Given the description of an element on the screen output the (x, y) to click on. 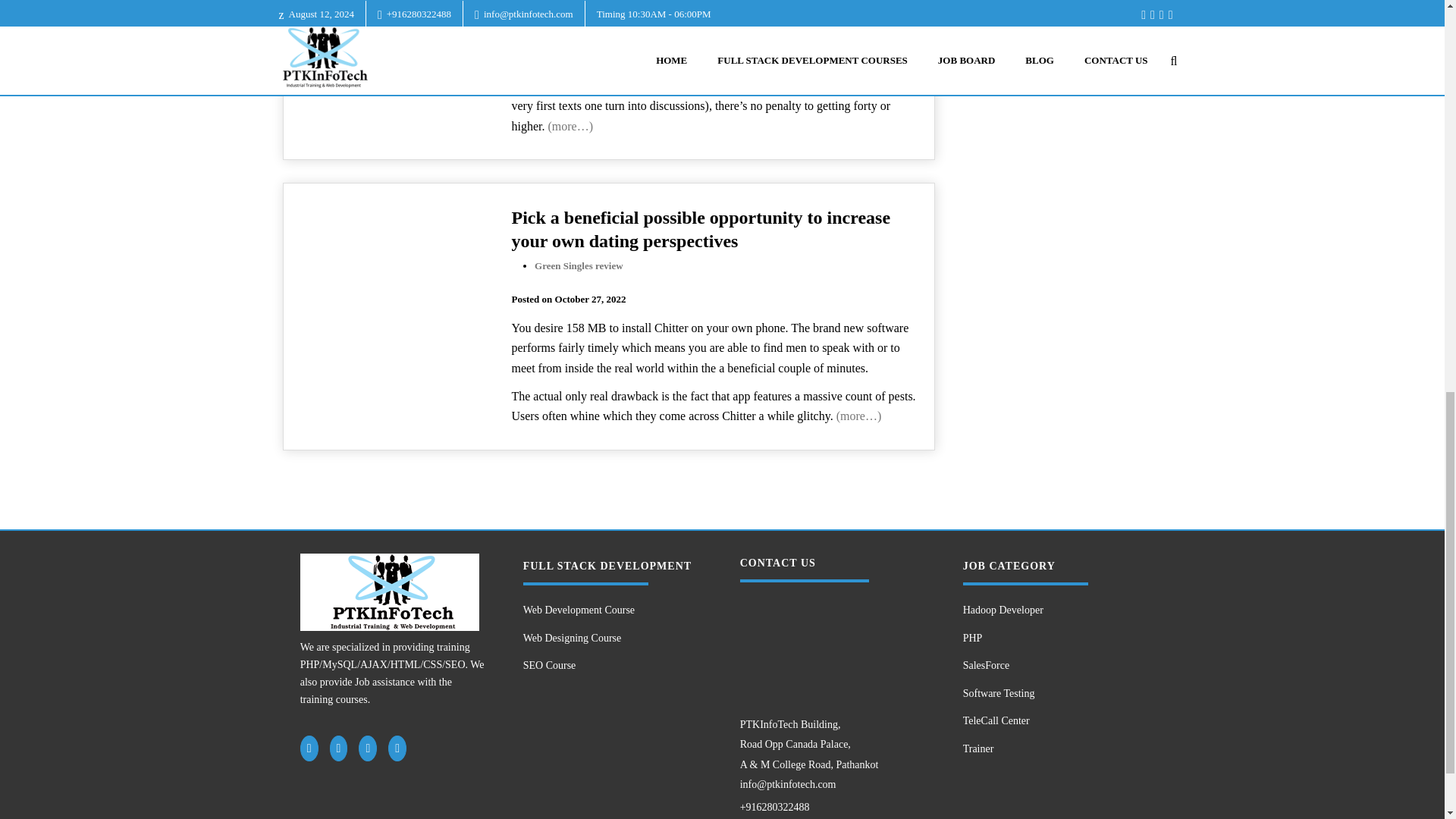
Web Designing Course (611, 638)
Web Development Course (611, 610)
SEO Course (1063, 43)
Web Designing Course (1063, 13)
Green Singles review (578, 265)
SEO Course (611, 665)
